Given the description of an element on the screen output the (x, y) to click on. 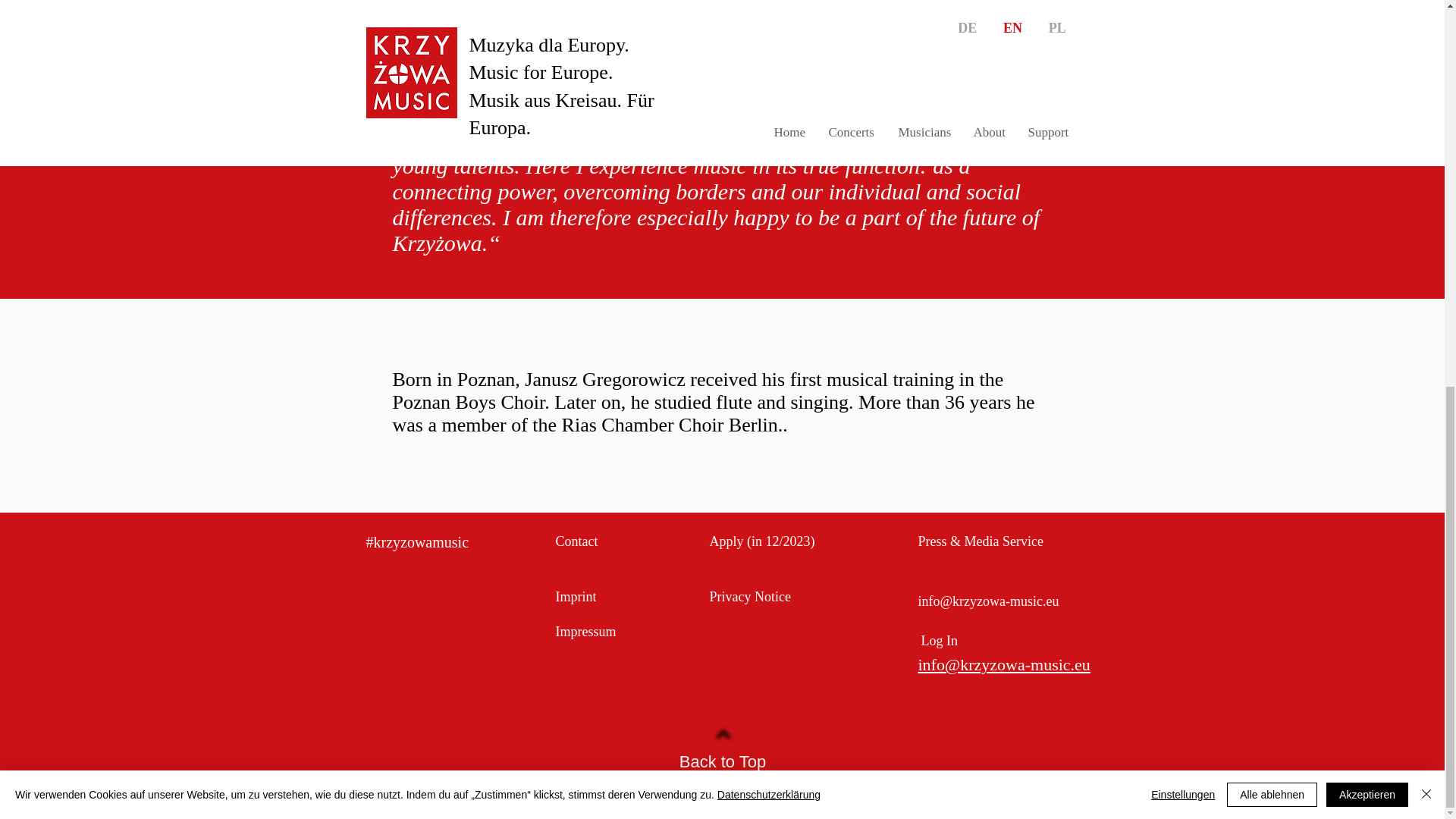
Restaurant Social Bar (401, 634)
